Given the description of an element on the screen output the (x, y) to click on. 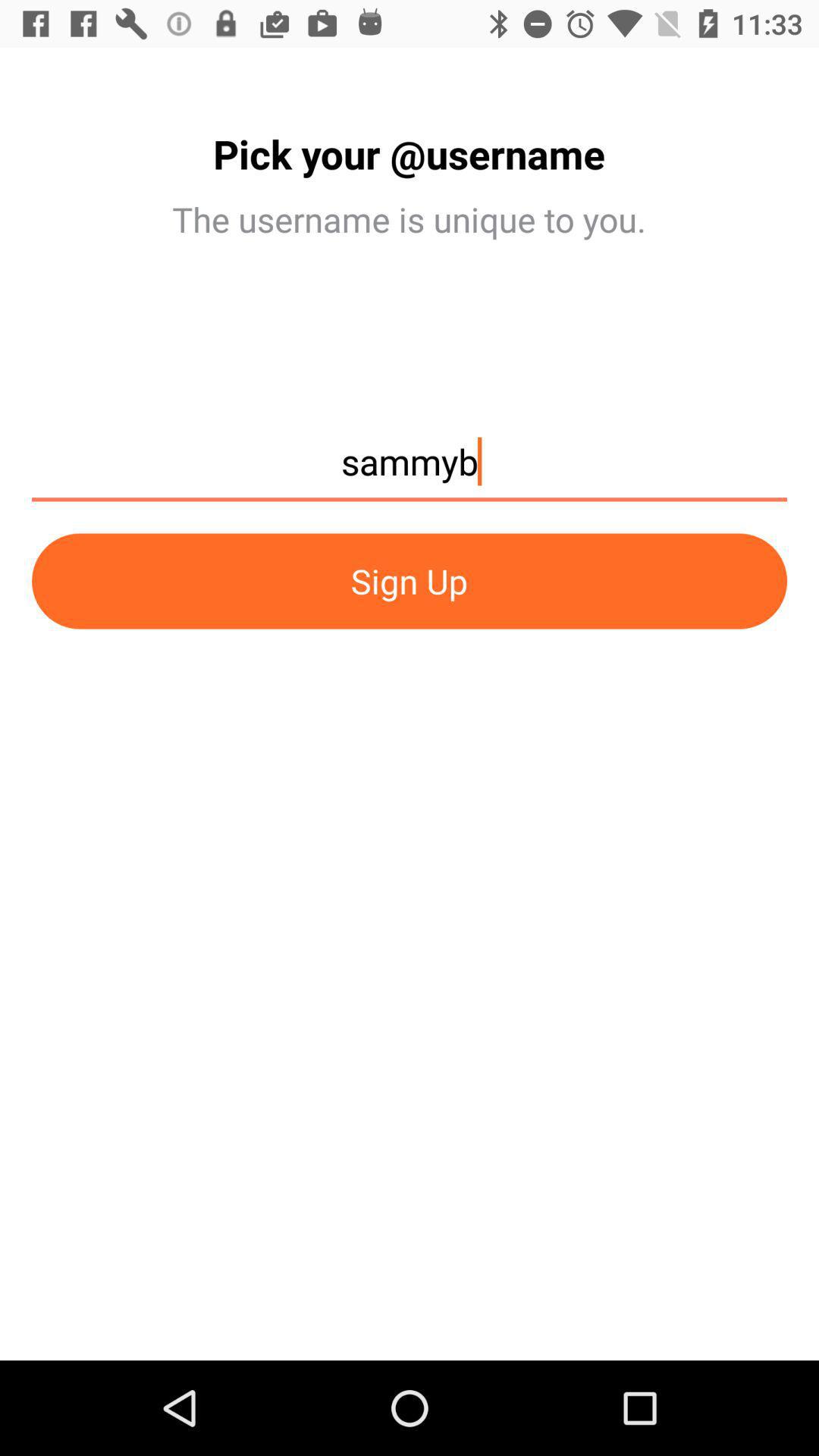
turn on the icon at the center (409, 581)
